Given the description of an element on the screen output the (x, y) to click on. 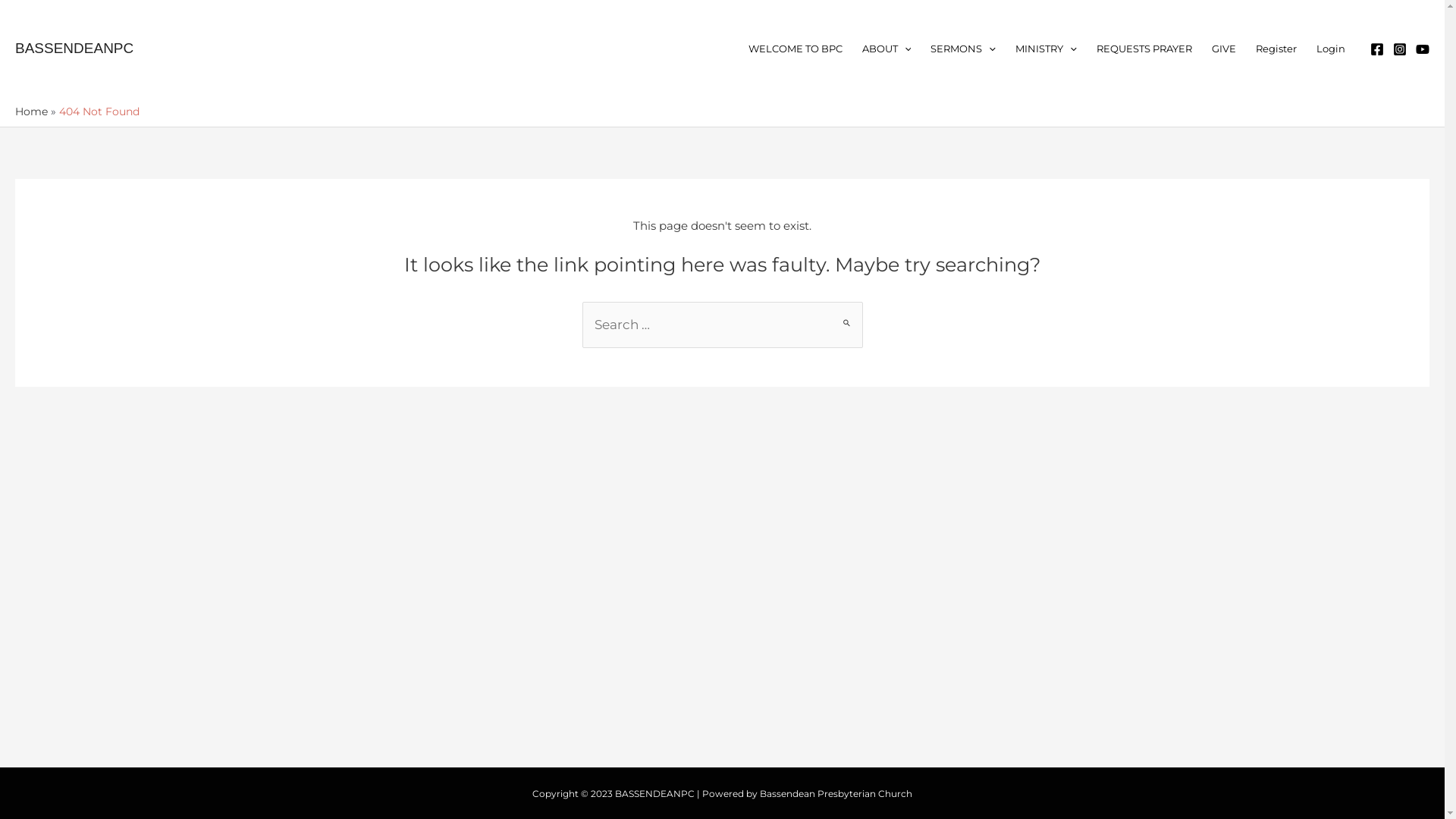
SERMONS Element type: text (962, 48)
GIVE Element type: text (1223, 48)
Login Element type: text (1330, 48)
REQUESTS PRAYER Element type: text (1143, 48)
BASSENDEANPC Element type: text (74, 48)
MINISTRY Element type: text (1045, 48)
Search Element type: text (845, 315)
ABOUT Element type: text (886, 48)
Home Element type: text (31, 111)
Register Element type: text (1275, 48)
WELCOME TO BPC Element type: text (795, 48)
